Given the description of an element on the screen output the (x, y) to click on. 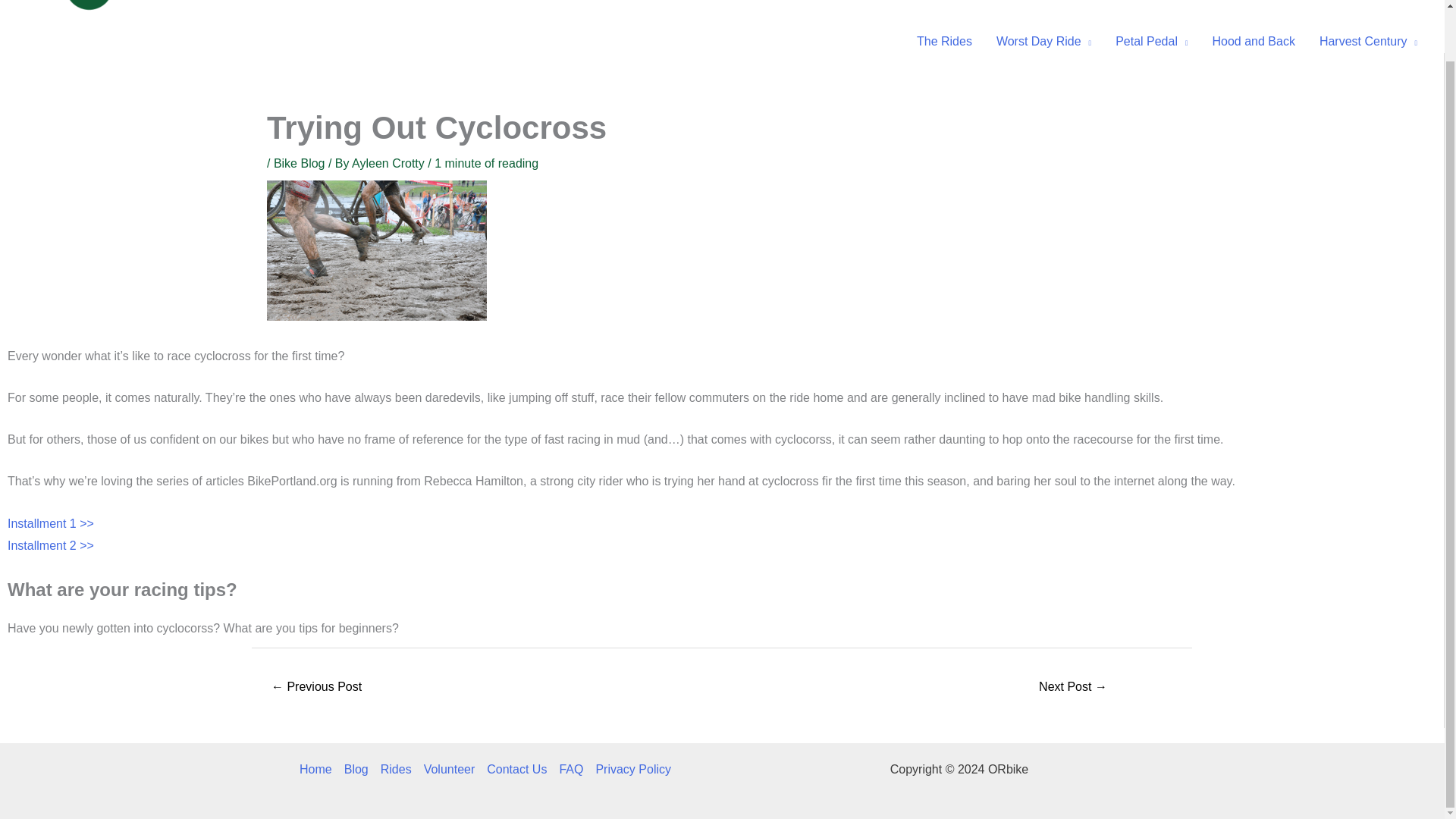
Contact (1394, 0)
Home (1178, 0)
Bike Blog (298, 163)
Petal Pedal (1151, 41)
Harvest Century (1368, 41)
Worst Day Ride (1043, 41)
The Rides (944, 41)
Cool Routes: Adventure Climb (1073, 687)
Volunteer (1320, 0)
Ayleen Crotty (390, 163)
View all posts by Ayleen Crotty (390, 163)
Hood and Back (1252, 41)
Handmade Bike and Beer Fest (316, 687)
Register (1244, 0)
